Given the description of an element on the screen output the (x, y) to click on. 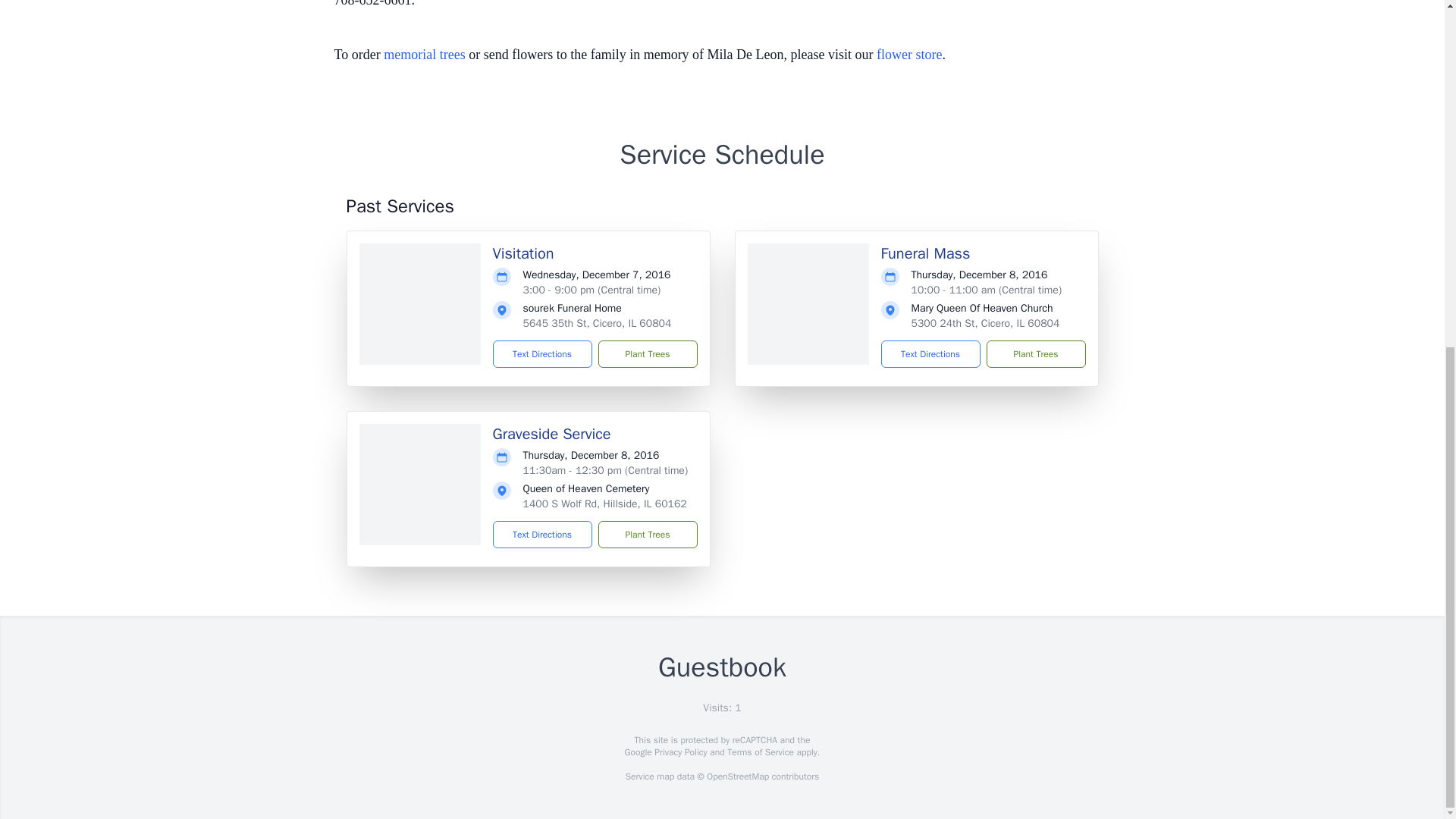
memorial trees (424, 54)
1400 S Wolf Rd, Hillside, IL 60162 (604, 503)
flower store (909, 54)
Text Directions (929, 353)
Text Directions (542, 533)
OpenStreetMap (737, 776)
Plant Trees (646, 353)
Text Directions (542, 353)
Terms of Service (759, 752)
Privacy Policy (679, 752)
Plant Trees (646, 533)
5645 35th St, Cicero, IL 60804 (596, 323)
Plant Trees (1034, 353)
5300 24th St, Cicero, IL 60804 (985, 323)
